Given the description of an element on the screen output the (x, y) to click on. 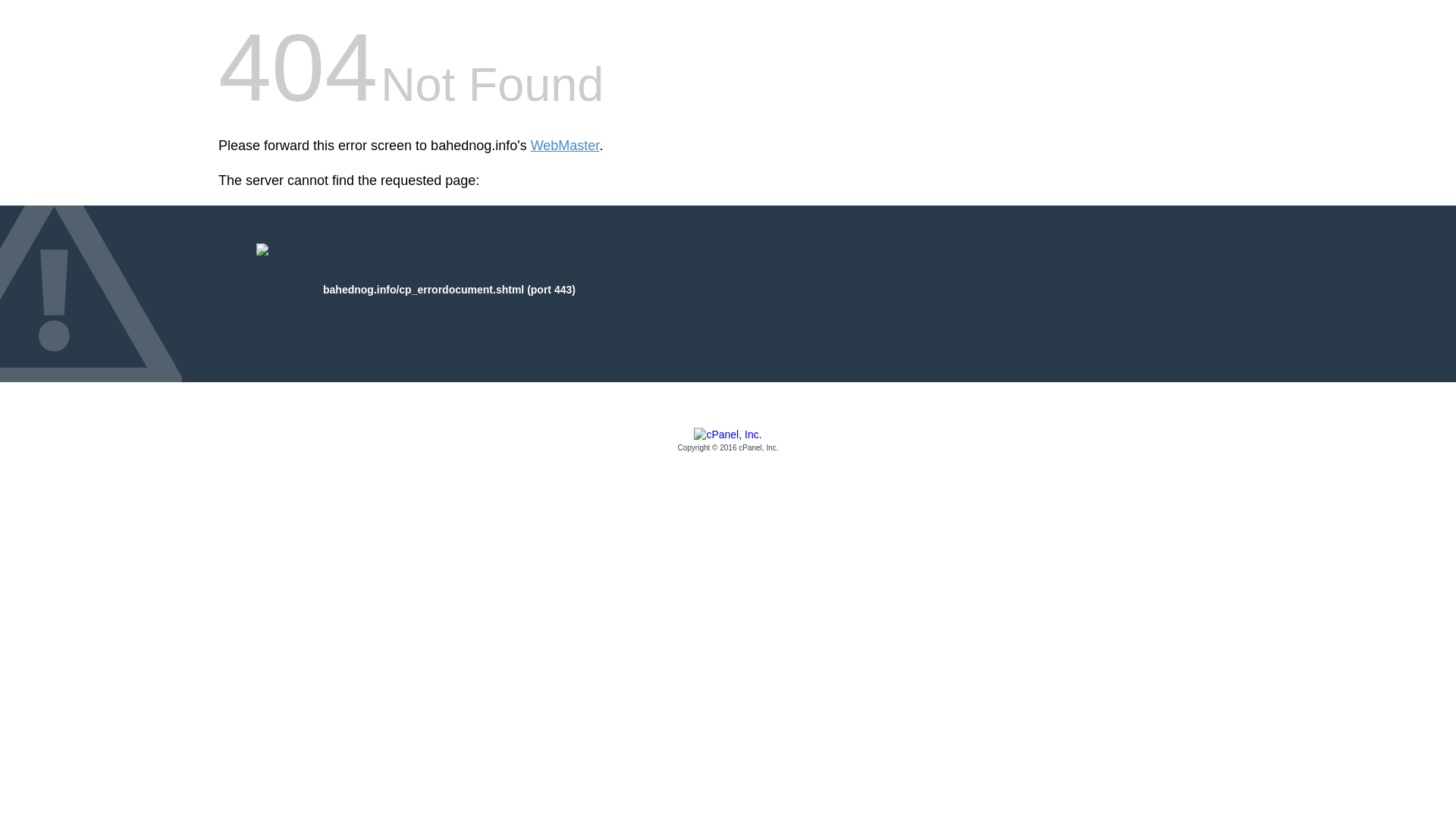
WebMaster (565, 145)
cPanel, Inc. (727, 440)
